Given the description of an element on the screen output the (x, y) to click on. 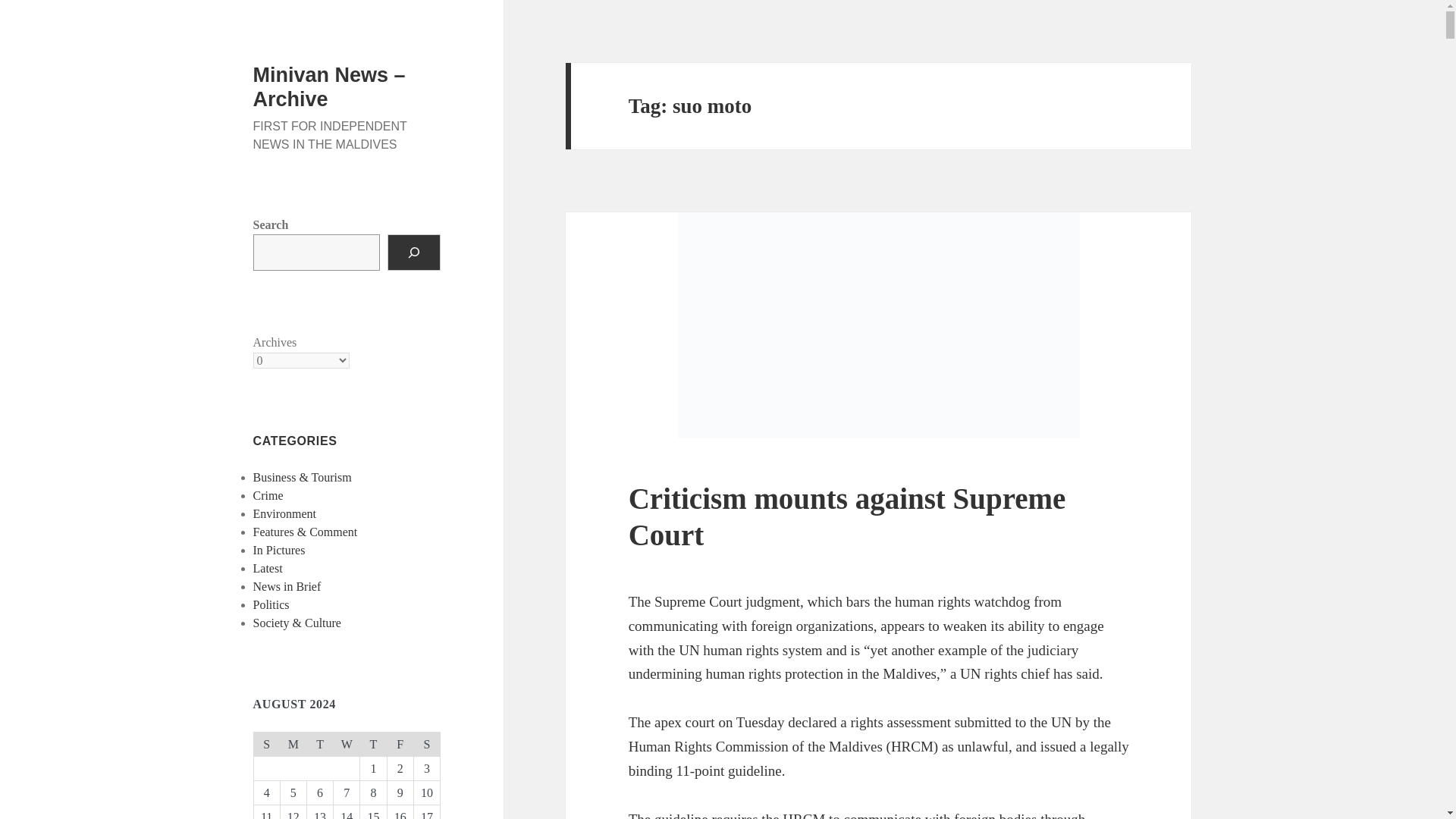
Saturday (426, 743)
Politics (271, 604)
Criticism mounts against Supreme Court (846, 516)
Monday (292, 743)
Friday (400, 743)
News in Brief (287, 585)
Thursday (373, 743)
Latest (267, 567)
Environment (285, 513)
Wednesday (346, 743)
